Given the description of an element on the screen output the (x, y) to click on. 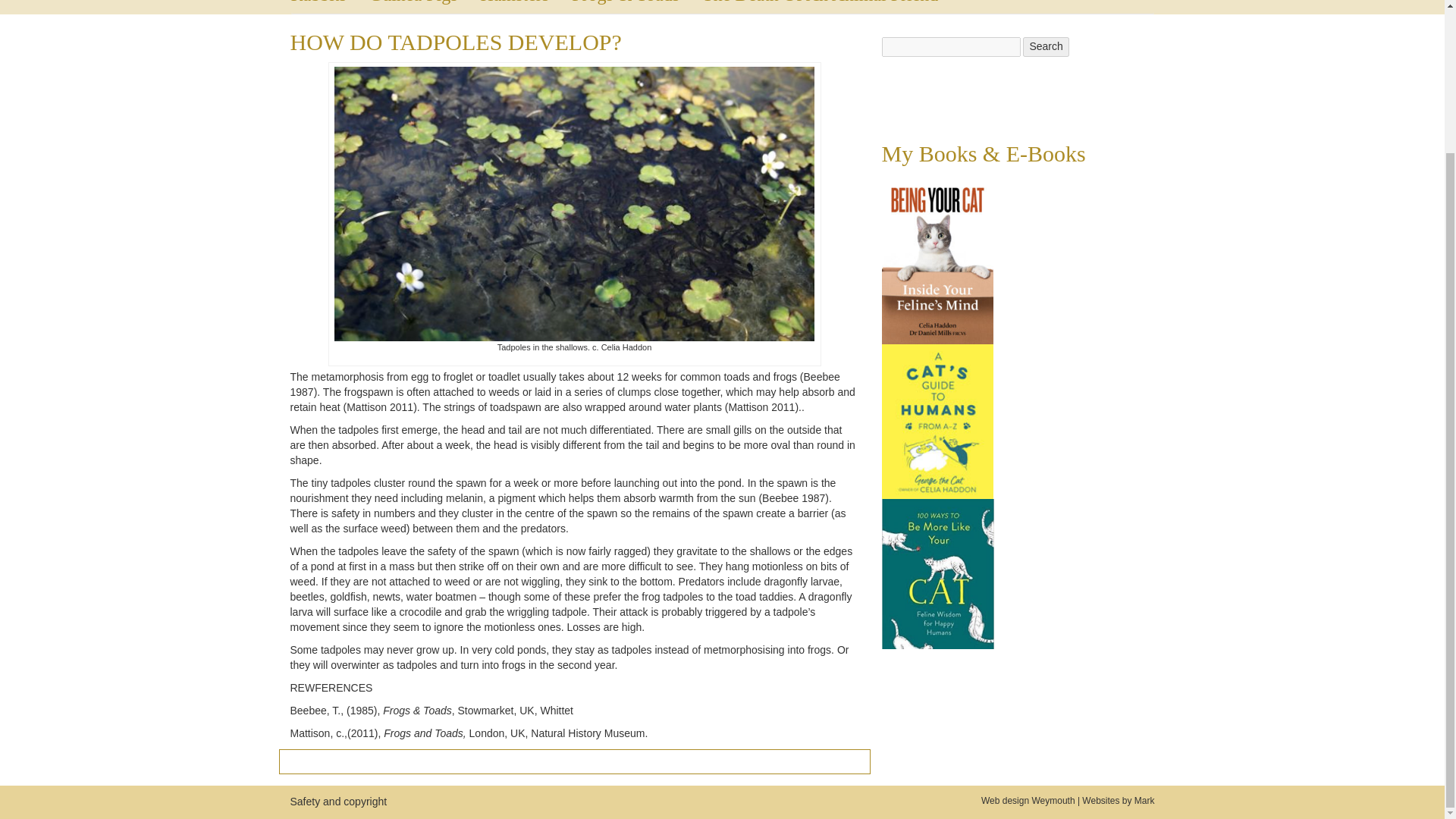
Hamsters (526, 6)
Web design Weymouth (1028, 800)
Safety and copyright (338, 801)
The Death Of An Animal Friend (830, 6)
Rabbits (330, 6)
Hamsters (526, 6)
Guinea Pigs (424, 6)
tadpoles (573, 203)
Search (1045, 46)
